Given the description of an element on the screen output the (x, y) to click on. 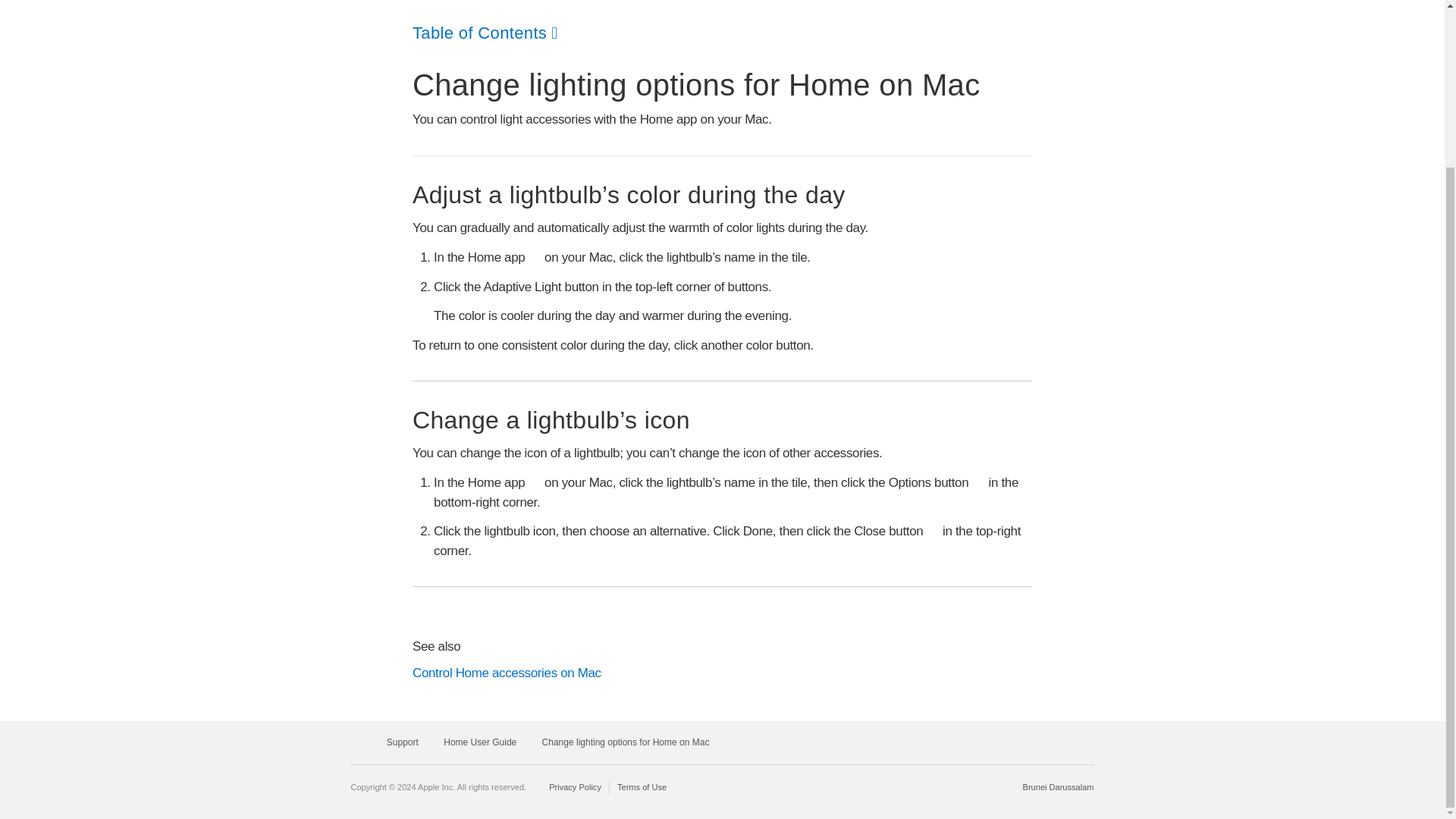
Choose your country or region (1058, 786)
Control Home accessories on Mac (722, 673)
Table of Contents (484, 32)
